Given the description of an element on the screen output the (x, y) to click on. 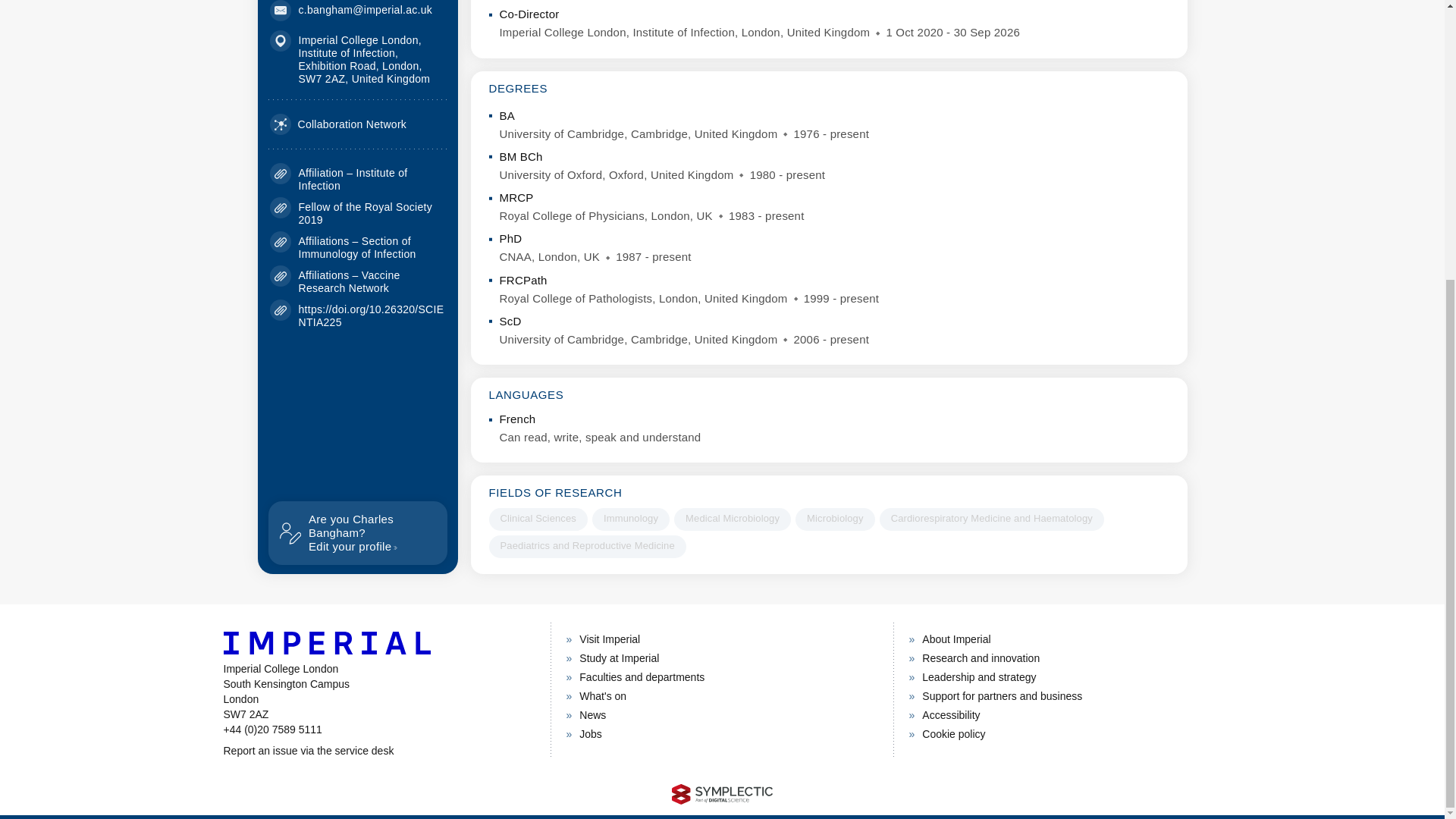
Medical Microbiology (356, 533)
Fellow of the Royal Society 2019 (732, 518)
Report an issue via the service desk (365, 213)
Immunology (378, 750)
Collaboration Network (630, 518)
Cardiorespiratory Medicine and Haematology (338, 124)
Microbiology (991, 518)
Symplectic, part of Digital Science (834, 518)
Clinical Sciences (722, 793)
